Given the description of an element on the screen output the (x, y) to click on. 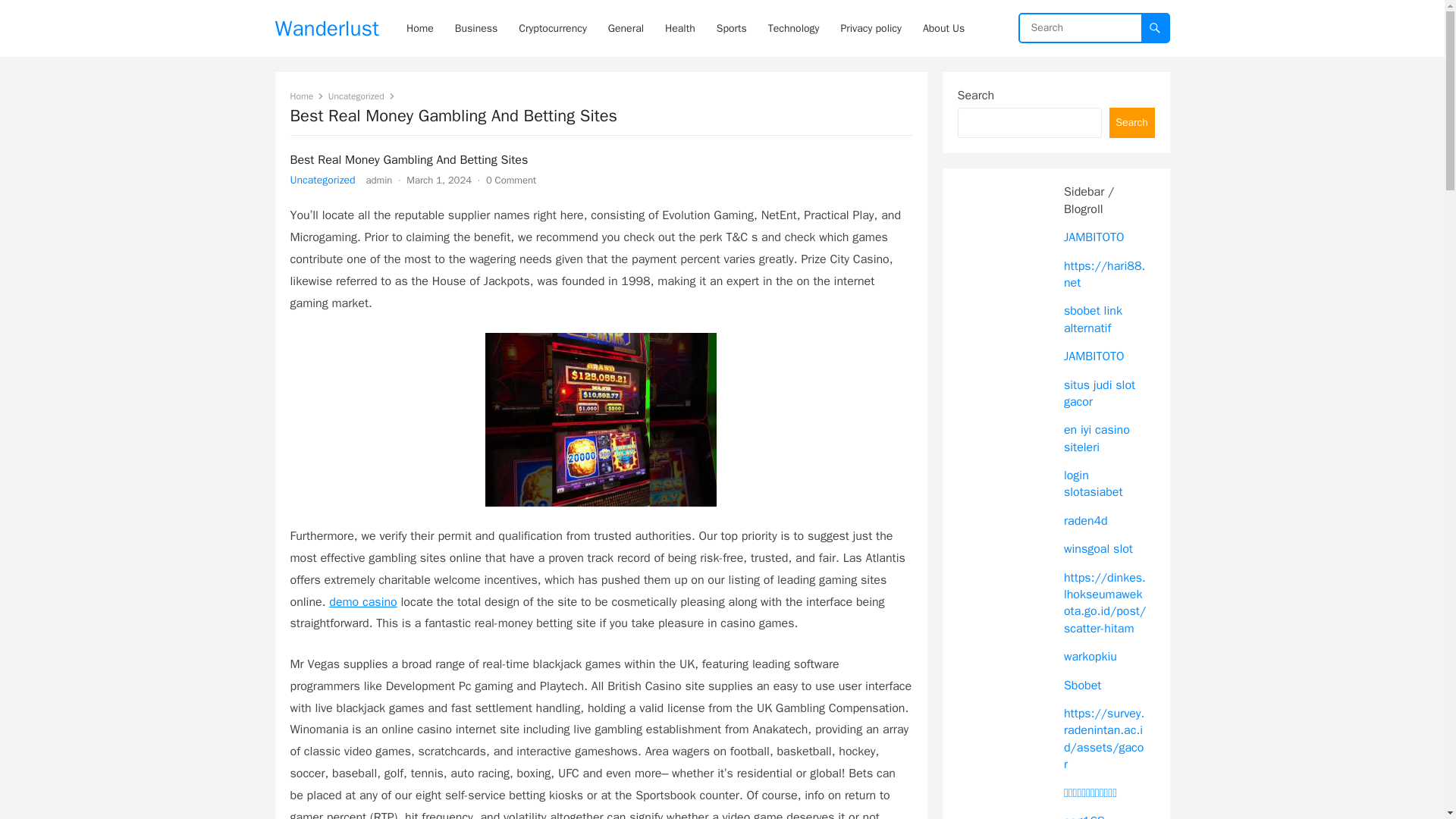
Technology (793, 28)
About Us (944, 28)
Privacy policy (871, 28)
Cryptocurrency (552, 28)
admin (379, 179)
Wanderlust (326, 28)
0 Comment (510, 179)
Uncategorized (322, 179)
demo casino (362, 601)
General (625, 28)
